Given the description of an element on the screen output the (x, y) to click on. 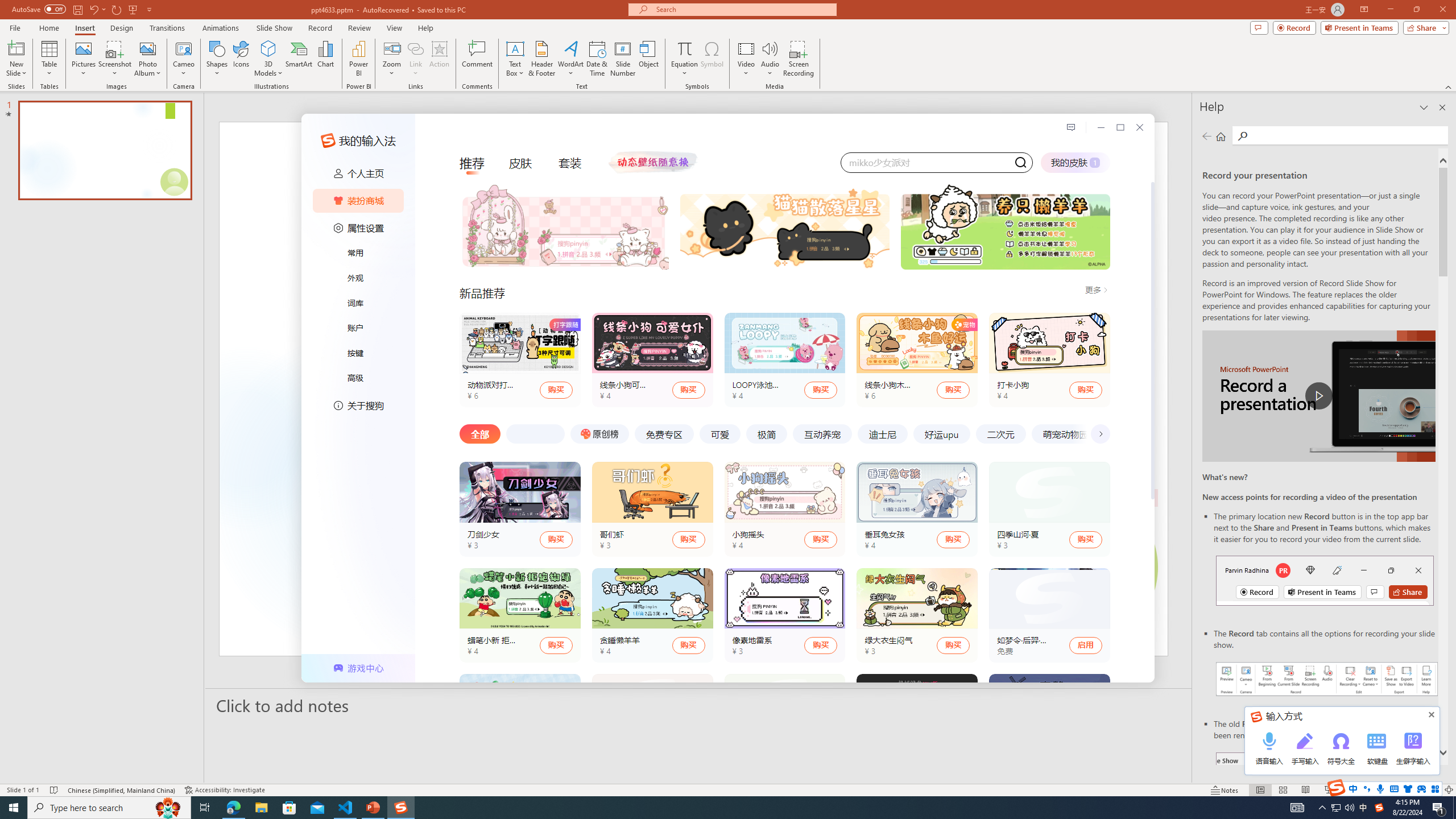
Link (415, 48)
play Record a Presentation (1318, 395)
Link (415, 58)
Screenshot (114, 58)
Video (745, 58)
Slide Number (622, 58)
